Given the description of an element on the screen output the (x, y) to click on. 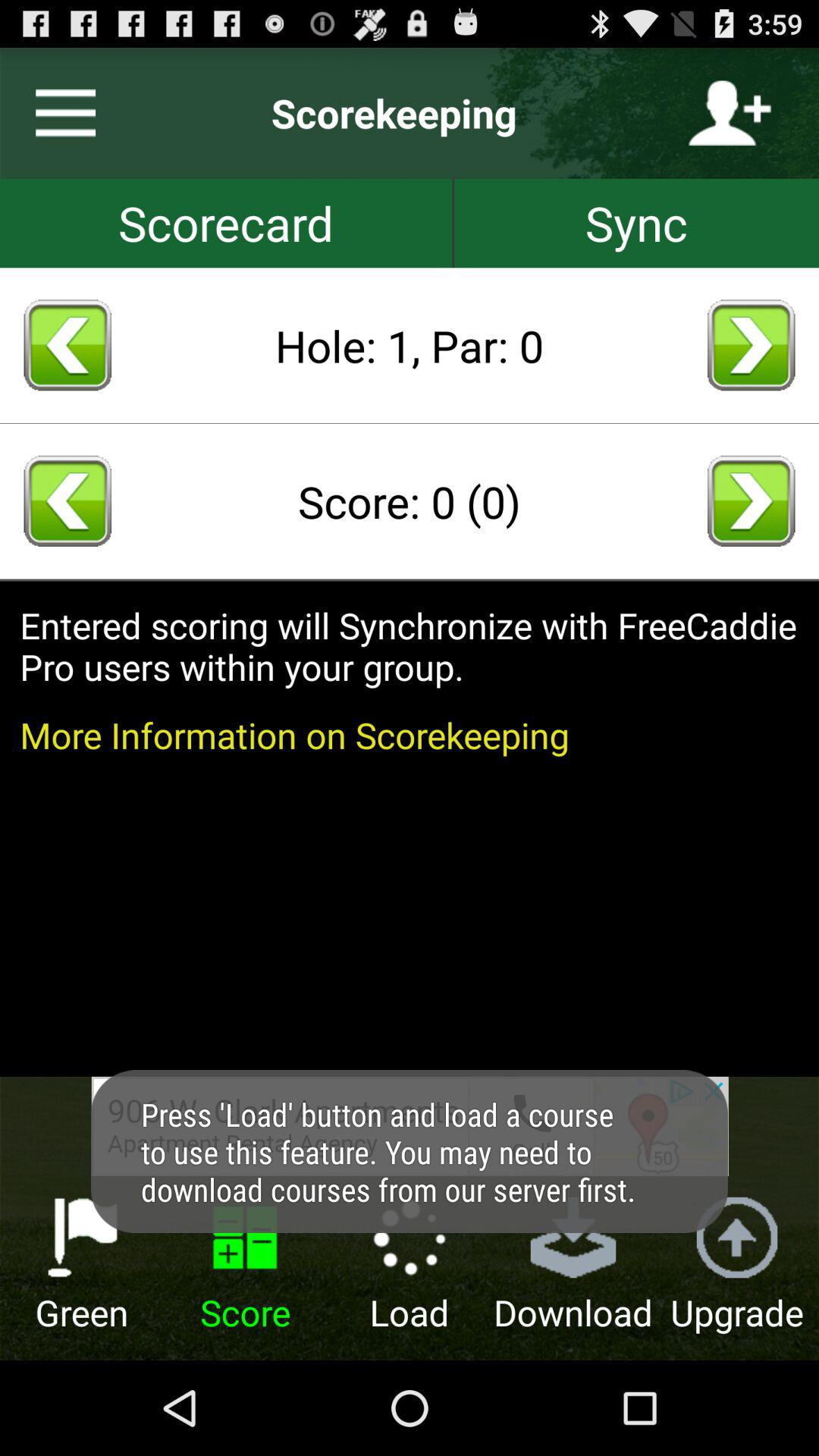
go to next (751, 344)
